Given the description of an element on the screen output the (x, y) to click on. 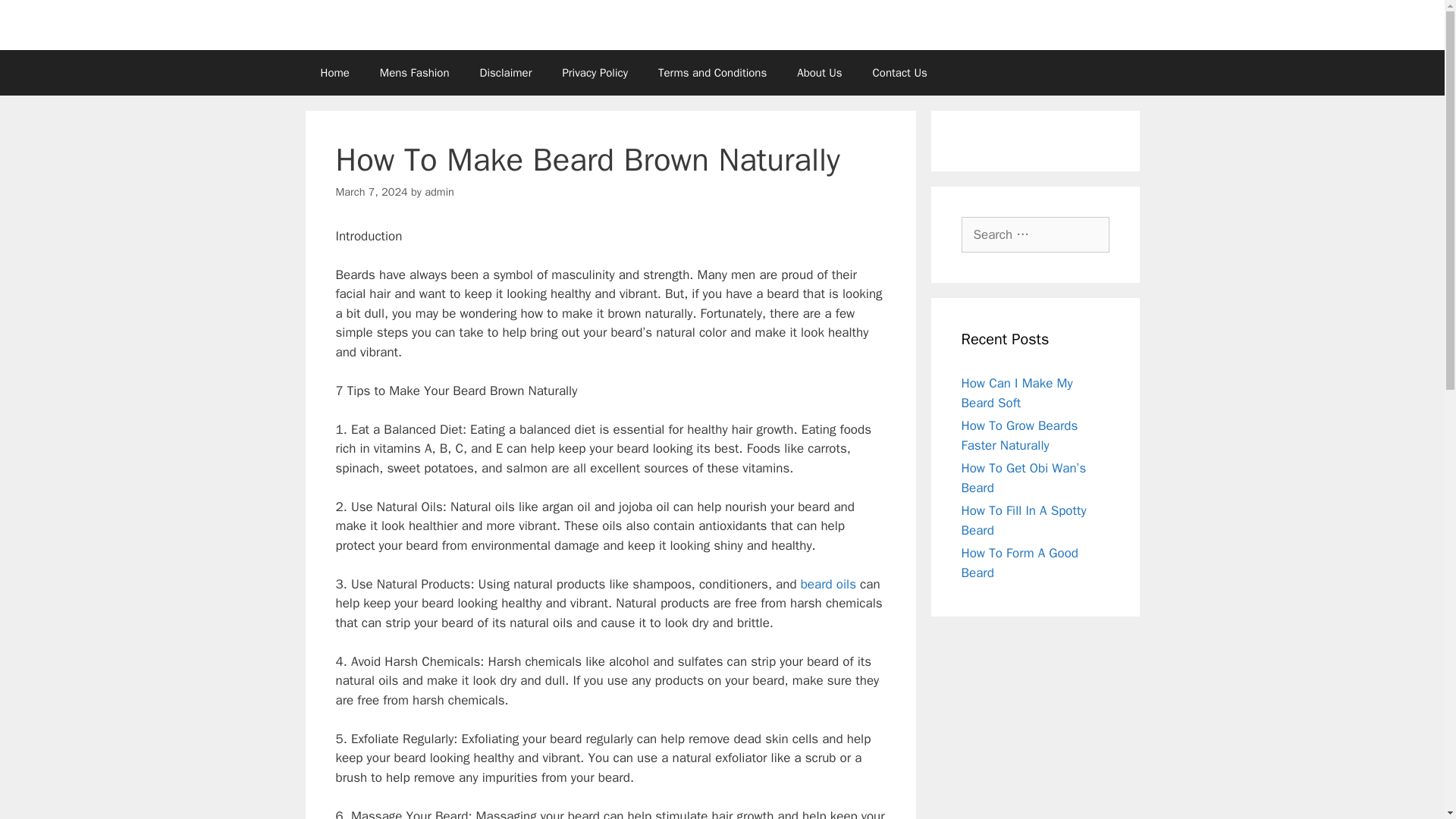
Disclaimer (505, 72)
View all posts by admin (439, 192)
Contact Us (899, 72)
Search for: (1034, 235)
admin (439, 192)
How To Fill In A Spotty Beard (1023, 520)
How To Grow Beards Faster Naturally (1019, 435)
How Can I Make My Beard Soft (1016, 393)
Terms and Conditions (712, 72)
How To Form A Good Beard (1019, 562)
Search (35, 18)
beard oils (828, 584)
beard oils (828, 584)
About Us (819, 72)
Mens Fashion (414, 72)
